Given the description of an element on the screen output the (x, y) to click on. 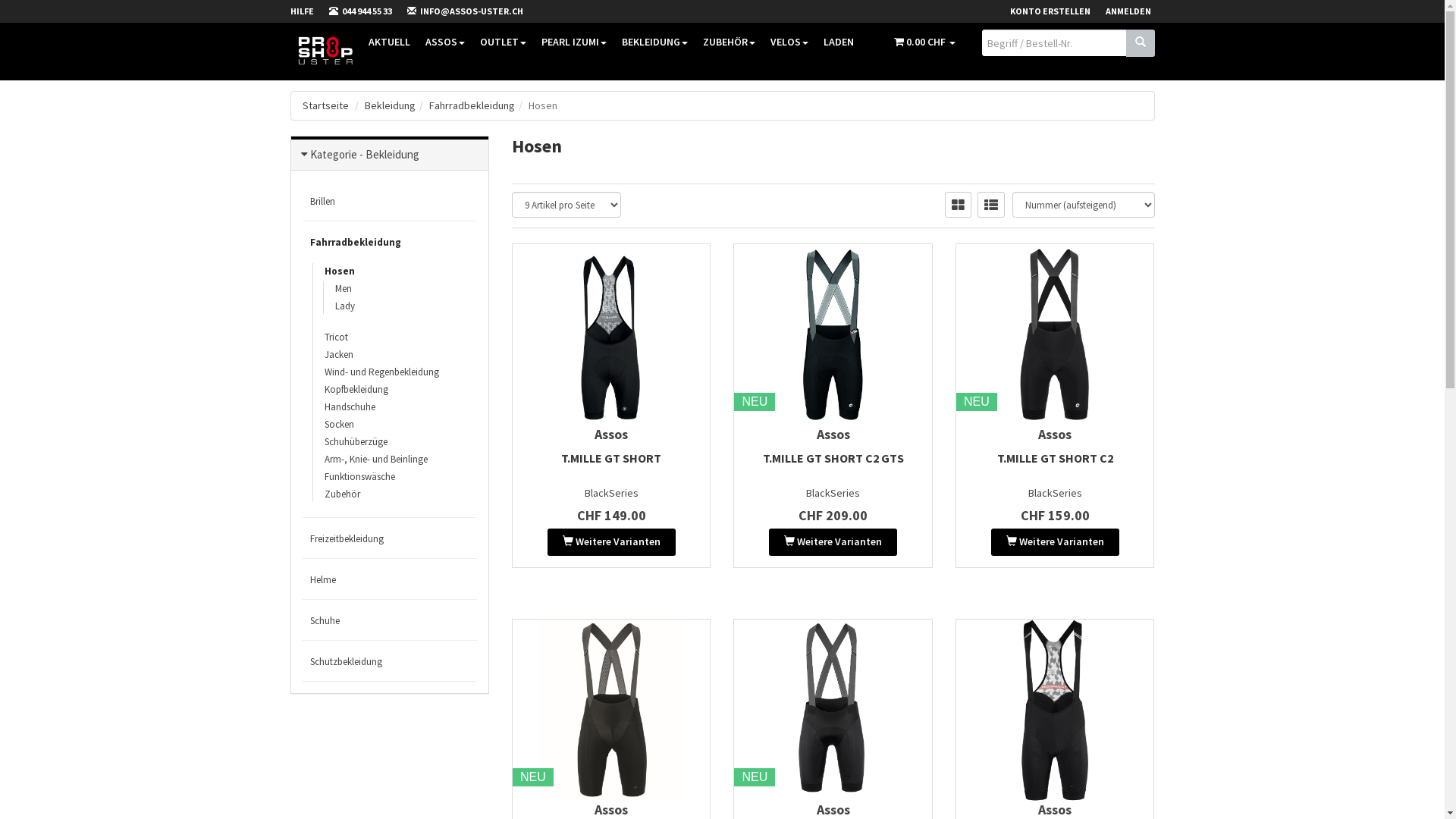
OUTLET Element type: text (502, 41)
Hosen Element type: text (338, 271)
KONTO ERSTELLEN Element type: text (1057, 11)
Grid Element type: hover (957, 204)
INFO@ASSOS-USTER.CH Element type: text (471, 11)
Handschuhe Element type: text (348, 406)
Men Element type: text (342, 288)
Arm-, Knie- und Beinlinge Element type: text (375, 459)
Fahrradbekleidung Element type: text (471, 105)
Socken Element type: text (338, 424)
Schutzbekleidung Element type: text (388, 661)
AKTUELL Element type: text (388, 41)
Kategorie - Bekleidung Element type: text (363, 154)
Bekleidung Element type: text (389, 105)
Fahrradbekleidung Element type: text (388, 241)
Weitere Varianten Element type: text (1055, 541)
Schuhe Element type: text (388, 620)
Weitere Varianten Element type: text (832, 541)
044 944 55 33 Element type: text (368, 11)
T.MILLE GT SHORT C2 Element type: text (1055, 457)
VELOS Element type: text (788, 41)
HILFE Element type: text (308, 11)
Tricot Element type: text (335, 337)
Helme Element type: text (388, 579)
LADEN Element type: text (838, 41)
Kopfbekleidung Element type: text (355, 389)
0.00 CHF Element type: text (923, 41)
Wind- und Regenbekleidung Element type: text (380, 371)
Lady Element type: text (344, 305)
ASSOS Element type: text (444, 41)
Startseite Element type: text (324, 105)
Jacken Element type: text (338, 354)
PEARL IZUMI Element type: text (573, 41)
ANMELDEN Element type: text (1135, 11)
Brillen Element type: text (388, 201)
T.MILLE GT SHORT C2 GTS Element type: text (832, 457)
Weitere Varianten Element type: text (611, 541)
List Element type: hover (990, 204)
Freizeitbekleidung Element type: text (388, 538)
T.MILLE GT SHORT Element type: text (611, 457)
BEKLEIDUNG Element type: text (654, 41)
